Given the description of an element on the screen output the (x, y) to click on. 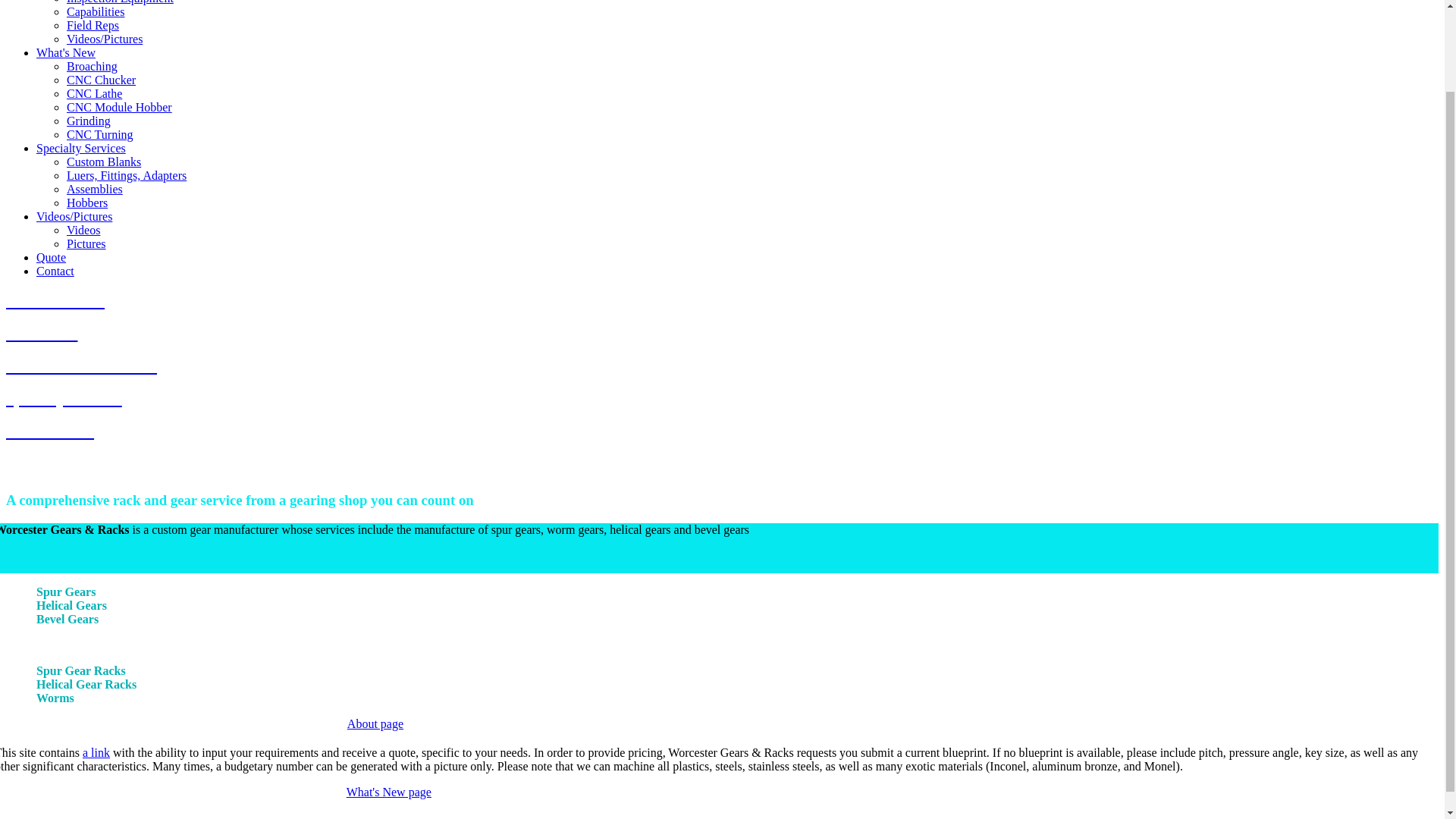
Inspection Equipment (119, 2)
Quote (50, 256)
CNC Lathe (94, 92)
CNC Module Hobber (118, 106)
Hobbers (86, 202)
Field Reps (92, 24)
Pictures (86, 243)
What's New page (388, 791)
What's New (66, 51)
Broaching (91, 65)
